Given the description of an element on the screen output the (x, y) to click on. 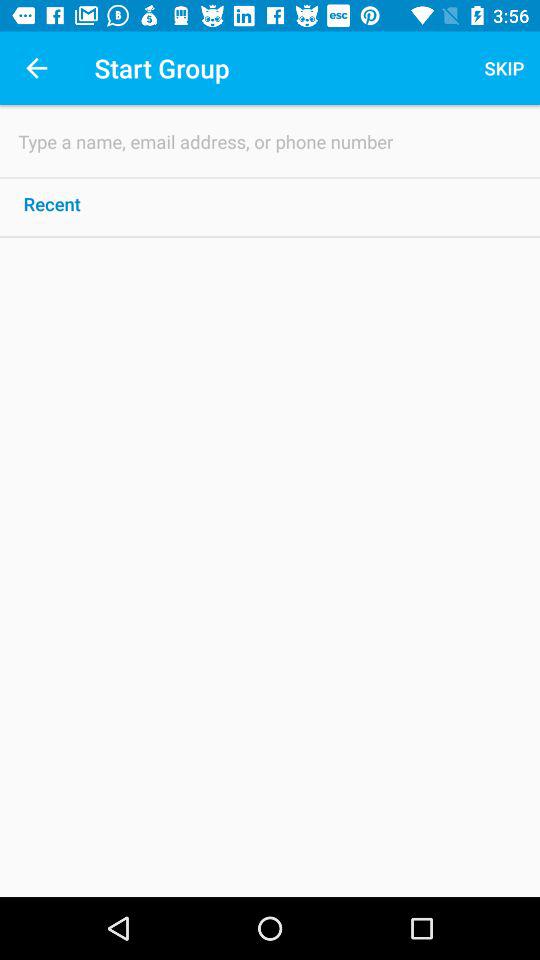
turn off the item to the right of the start group (504, 67)
